Given the description of an element on the screen output the (x, y) to click on. 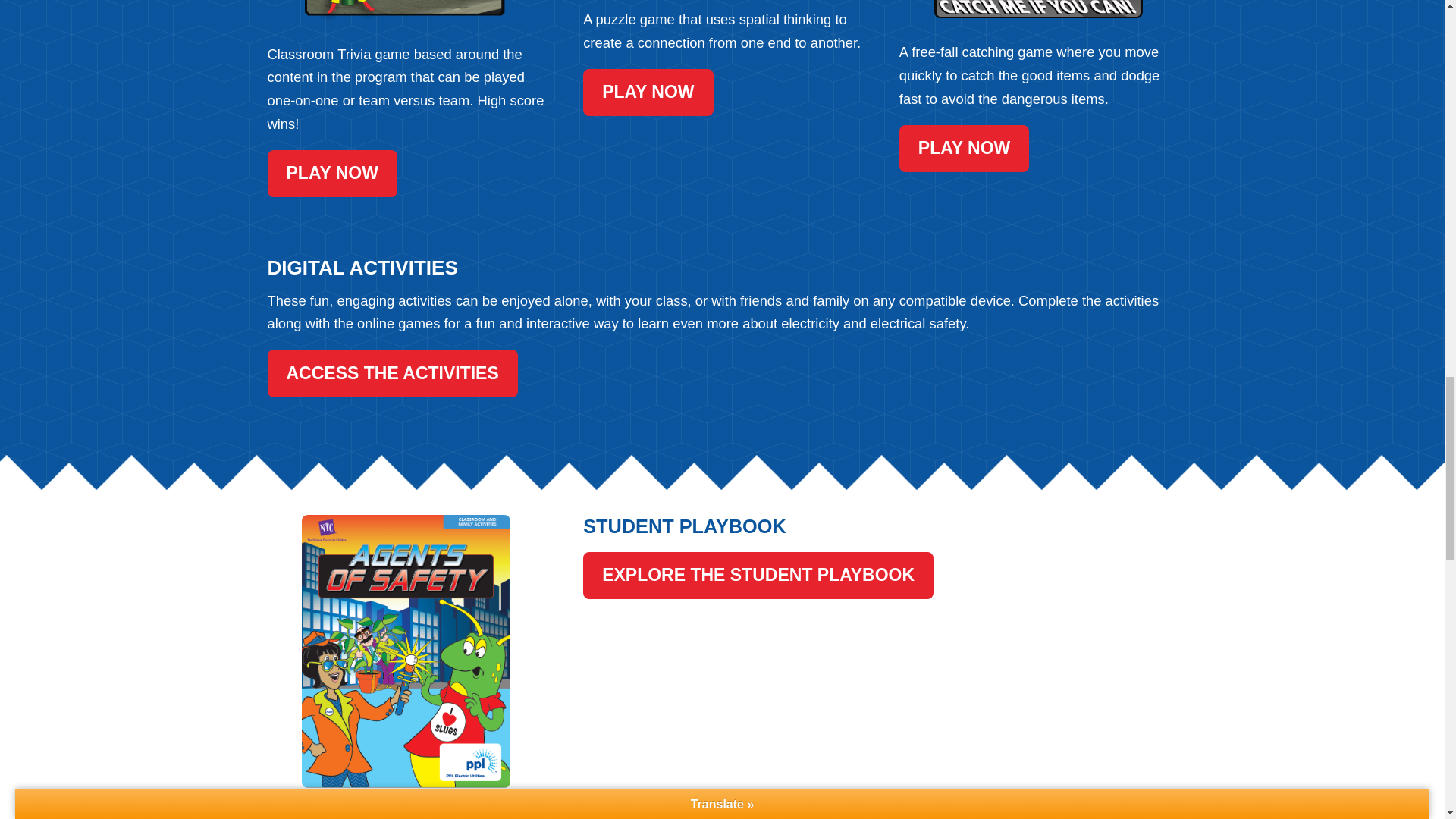
PLAY NOW (964, 148)
PLAY NOW (648, 92)
ACCESS THE ACTIVITIES (391, 372)
EXPLORE THE STUDENT PLAYBOOK (758, 575)
PLAY NOW (331, 173)
